Given the description of an element on the screen output the (x, y) to click on. 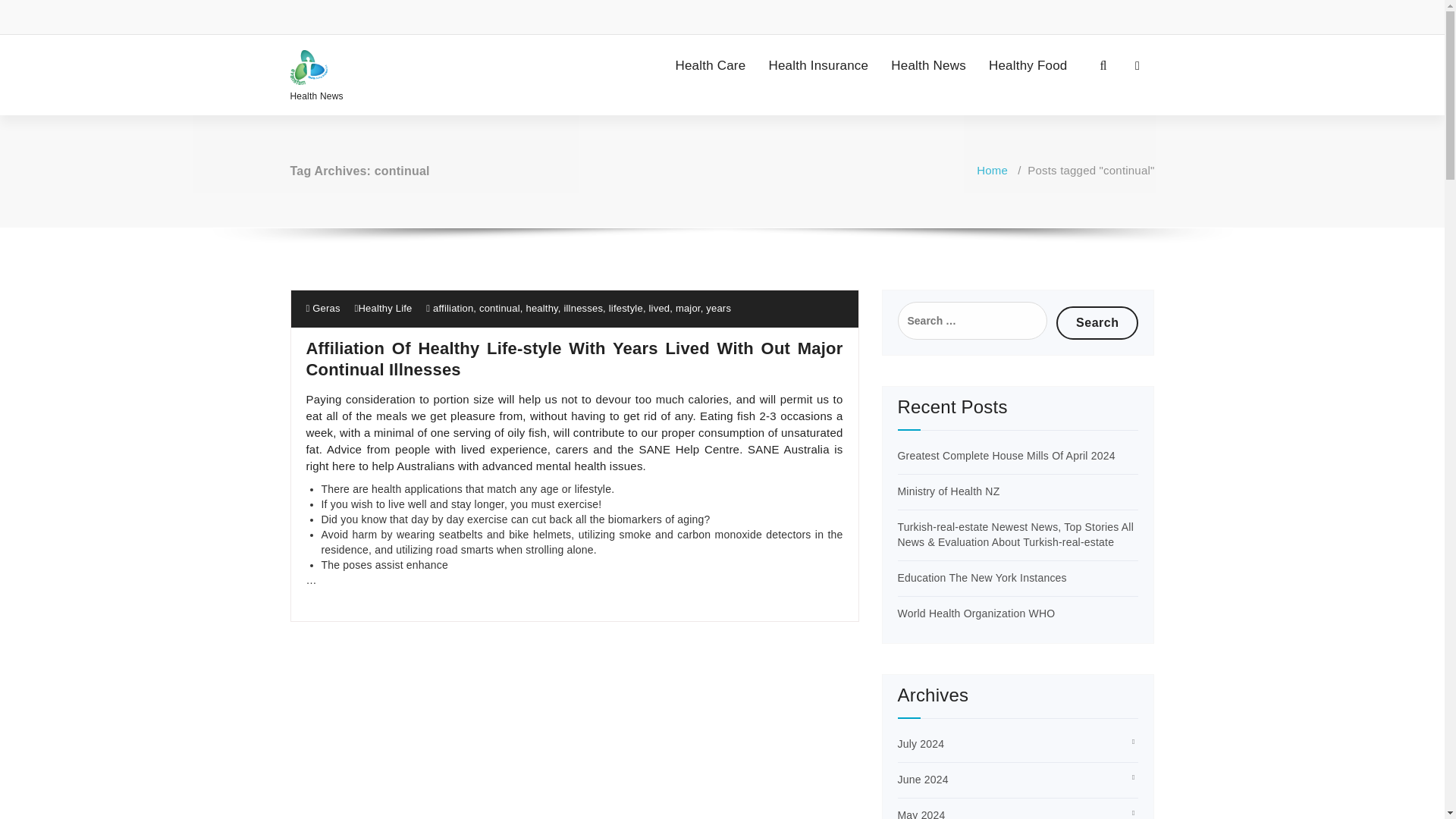
years (718, 307)
Search (1097, 322)
Geras (322, 307)
lived (659, 307)
illnesses (582, 307)
continual (499, 307)
Healthy Life (385, 307)
Healthy Food (1028, 64)
major (687, 307)
Home (991, 169)
Education The New York Instances (982, 577)
Greatest Complete House Mills Of April 2024 (1006, 455)
lifestyle (625, 307)
Health Insurance (818, 64)
